Given the description of an element on the screen output the (x, y) to click on. 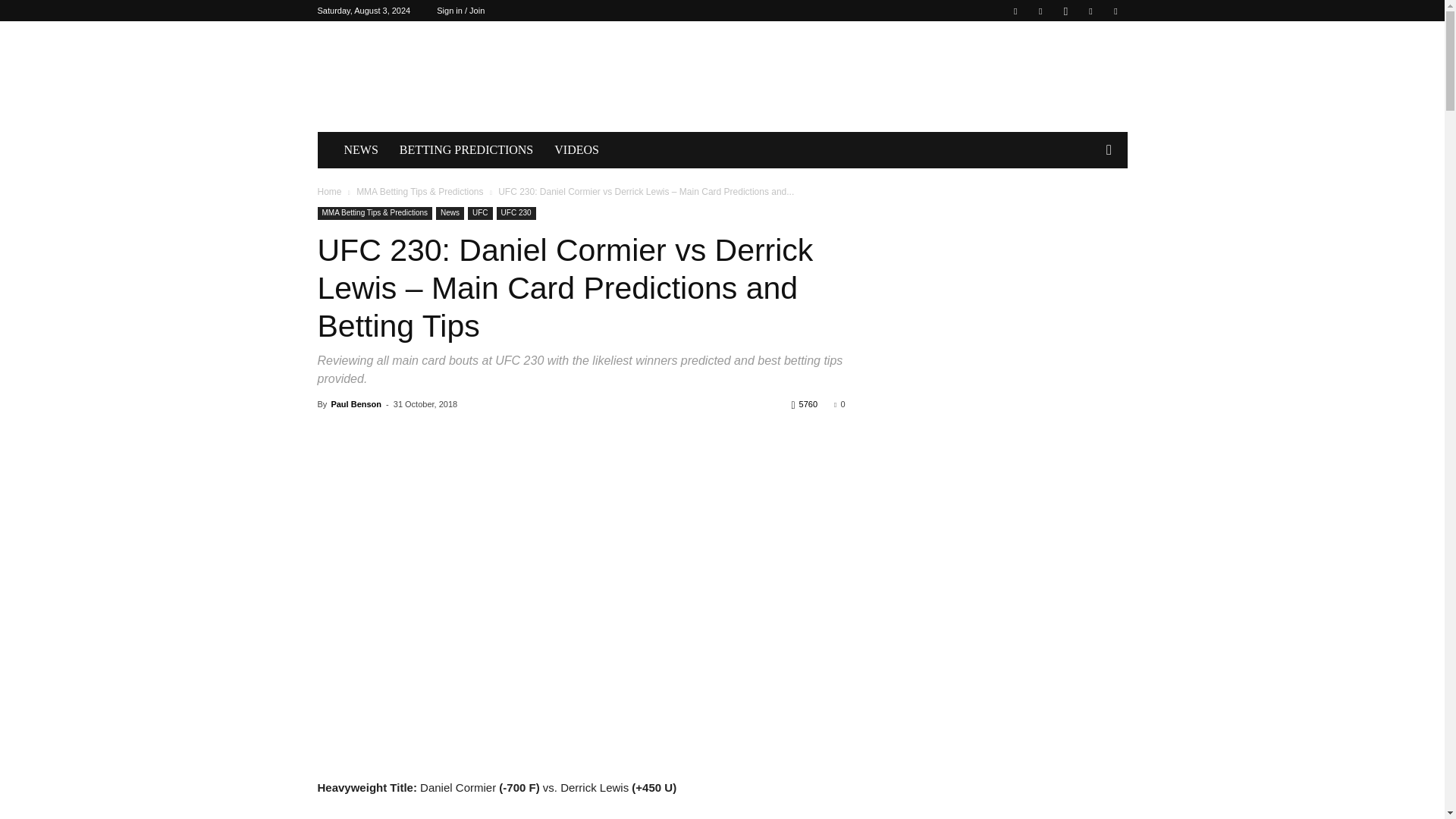
Twitter (1090, 10)
NEWS (360, 149)
Youtube (1114, 10)
Instagram (1065, 10)
Facebook (1015, 10)
